Given the description of an element on the screen output the (x, y) to click on. 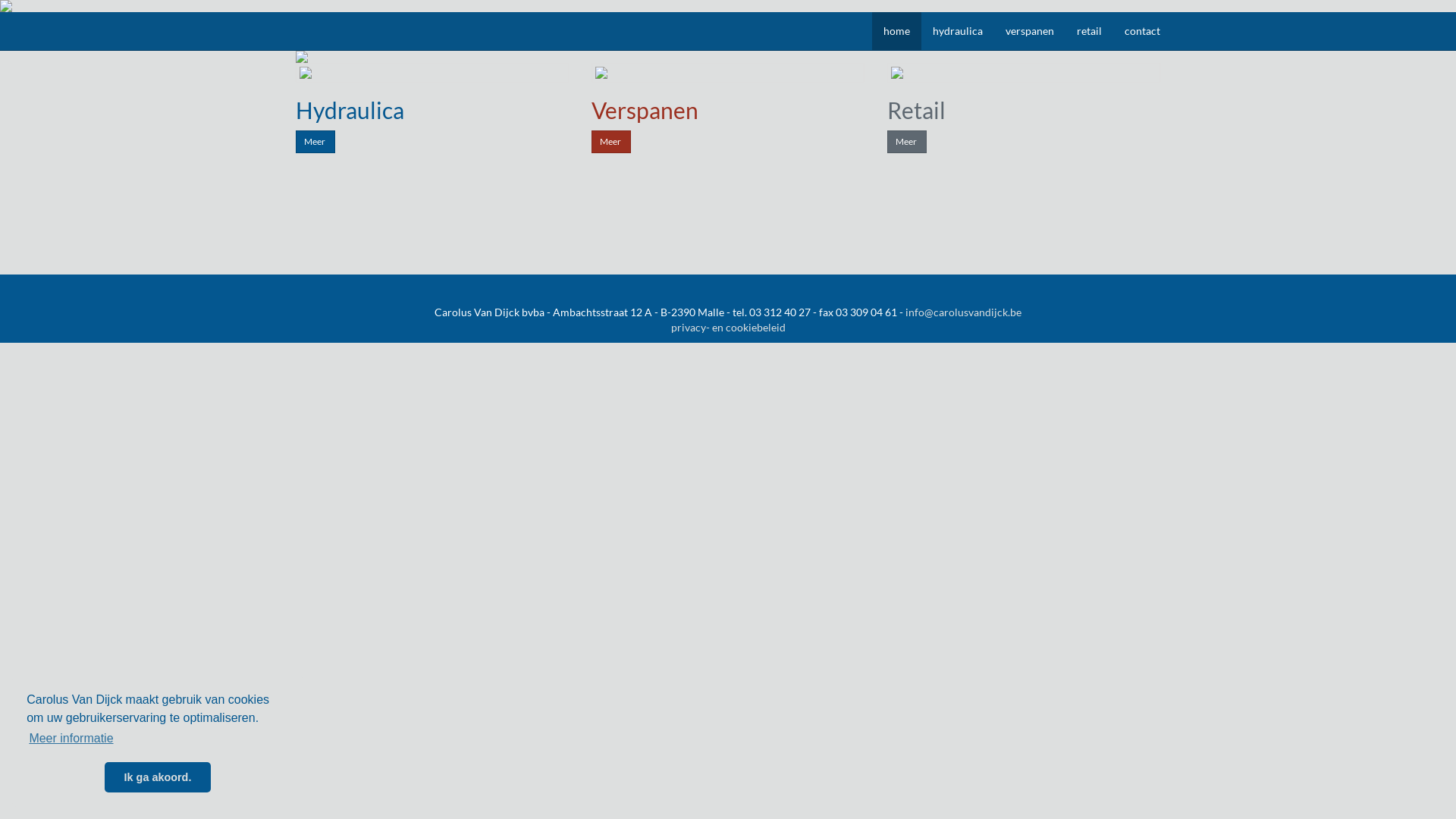
hydraulica Element type: text (957, 31)
home Element type: text (896, 31)
contact Element type: text (1142, 31)
Meer  Element type: text (315, 141)
Meer  Element type: text (906, 141)
Ik ga akoord. Element type: text (157, 777)
verspanen Element type: text (1029, 31)
retail Element type: text (1089, 31)
Hydraulica Element type: text (349, 109)
info@carolusvandijck.be Element type: text (963, 311)
Meer  Element type: text (610, 141)
Retail Element type: text (916, 109)
privacy- en cookiebeleid Element type: text (727, 326)
Meer informatie Element type: text (71, 738)
Verspanen Element type: text (644, 109)
